Given the description of an element on the screen output the (x, y) to click on. 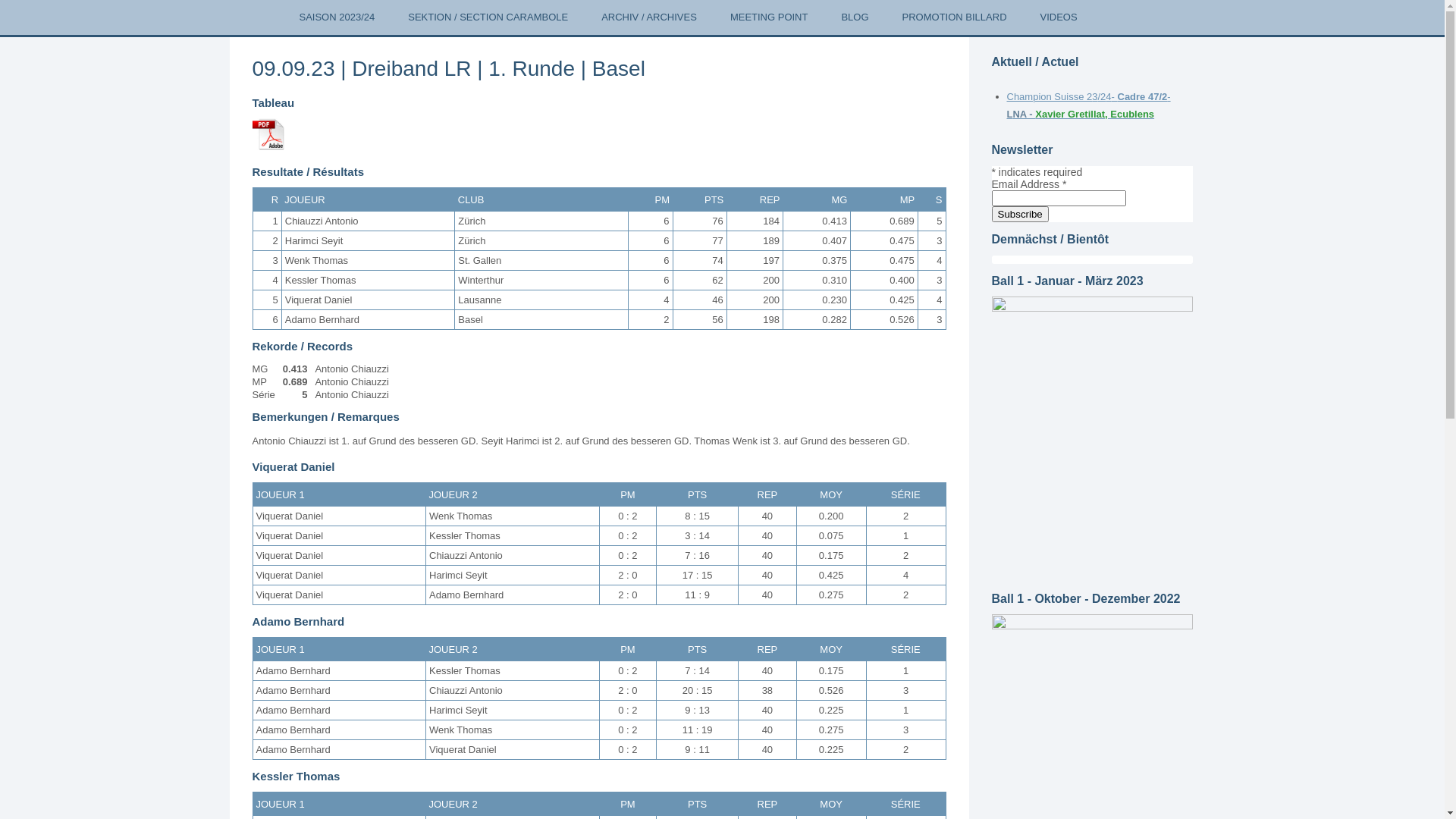
MEETING POINT Element type: text (769, 17)
ARCHIV / ARCHIVES Element type: text (648, 17)
Subscribe Element type: text (1019, 214)
PROMOTION BILLARD Element type: text (954, 17)
SEKTION / SECTION CARAMBOLE Element type: text (487, 17)
VIDEOS Element type: text (1058, 17)
BLOG Element type: text (854, 17)
SAISON 2023/24 Element type: text (336, 17)
